Given the description of an element on the screen output the (x, y) to click on. 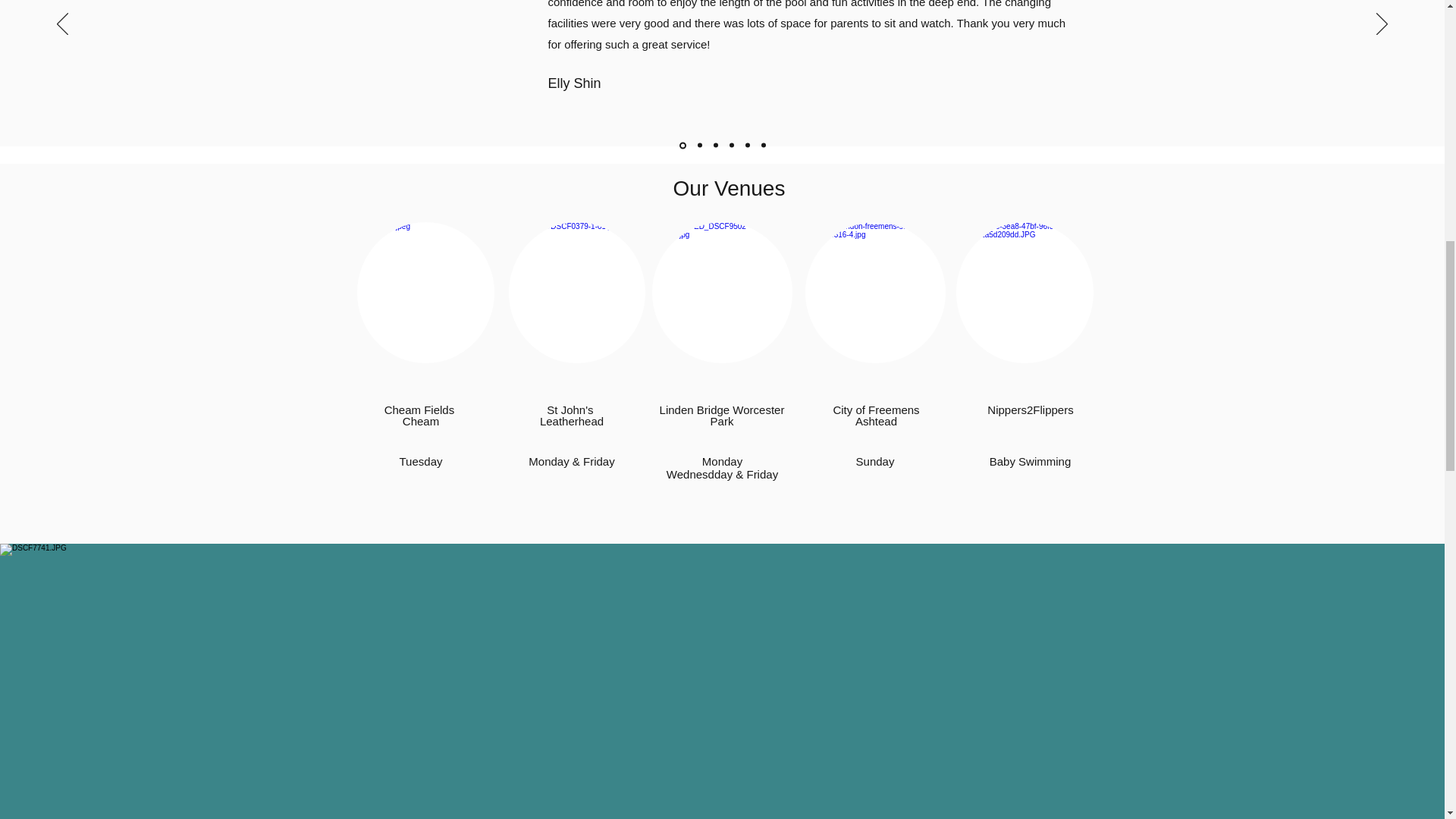
guy3.jpg (1024, 292)
guy4.jpg (874, 292)
guy3.jpg (424, 292)
guy2.jpg (722, 292)
guy3.jpg (576, 292)
